Given the description of an element on the screen output the (x, y) to click on. 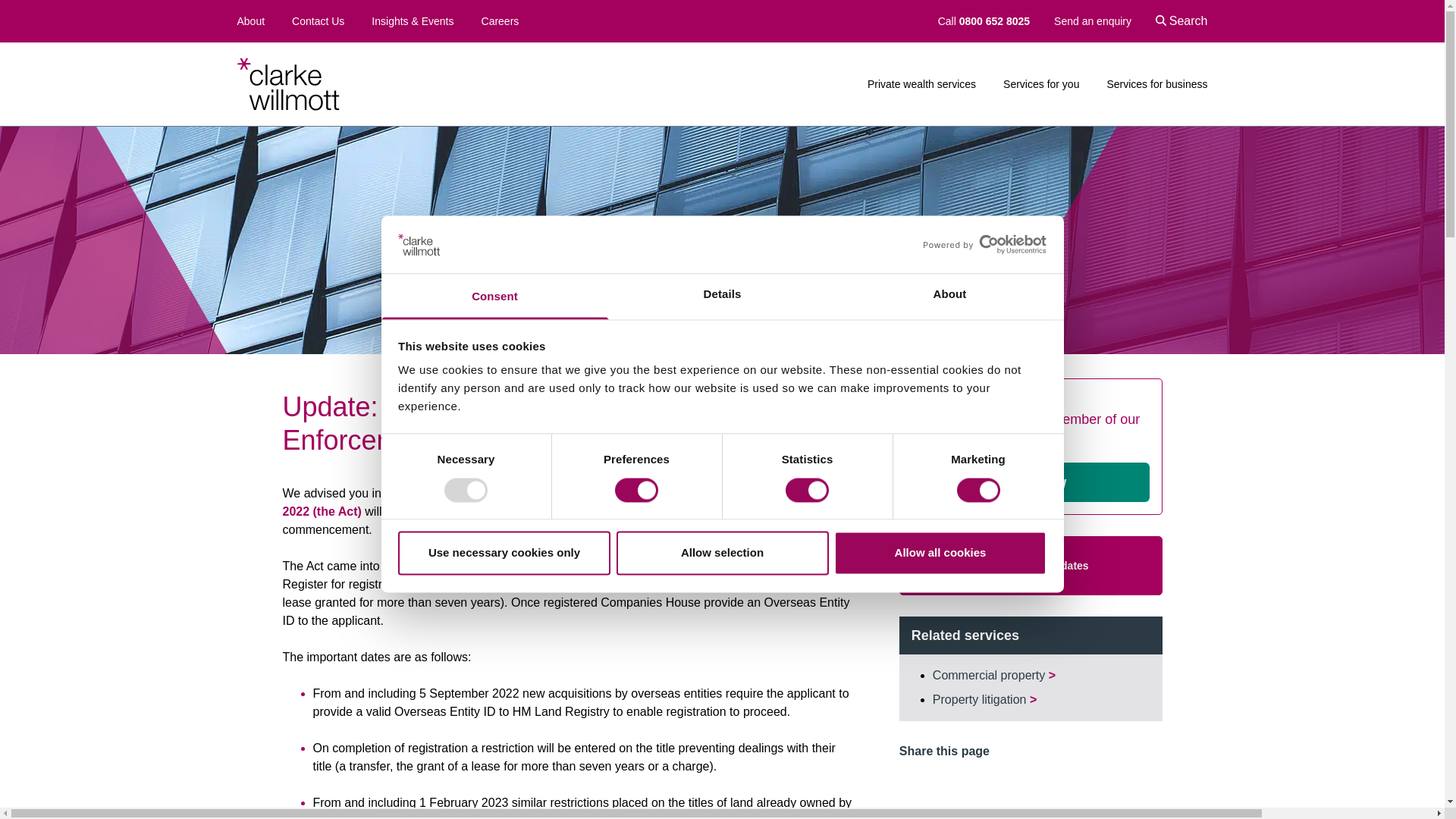
Consent (494, 297)
About (948, 297)
Use necessary cookies only (503, 553)
Allow selection (721, 553)
Details (721, 297)
Allow all cookies (940, 553)
